Given the description of an element on the screen output the (x, y) to click on. 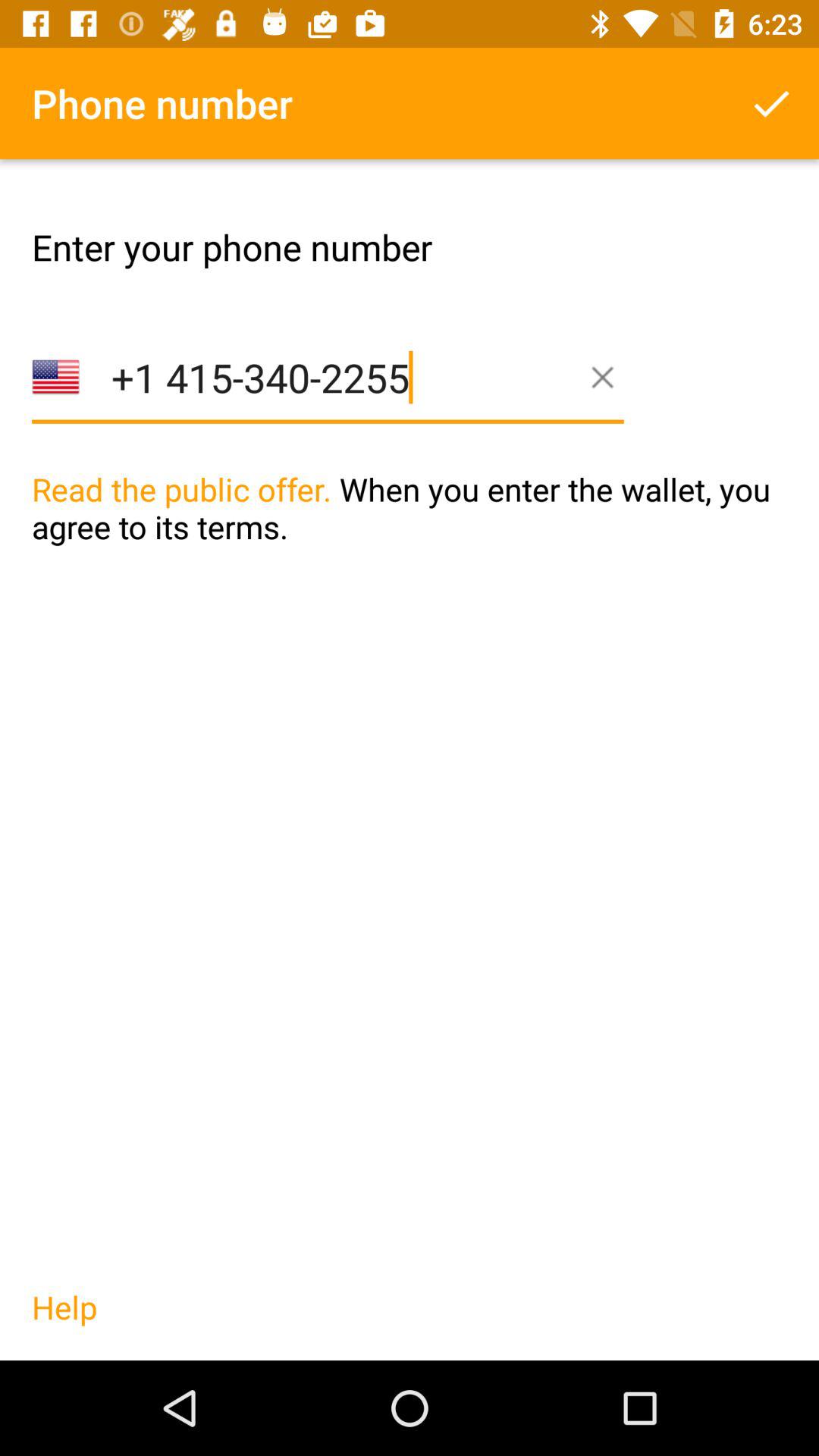
tap the icon below 1 415 340 (409, 539)
